Given the description of an element on the screen output the (x, y) to click on. 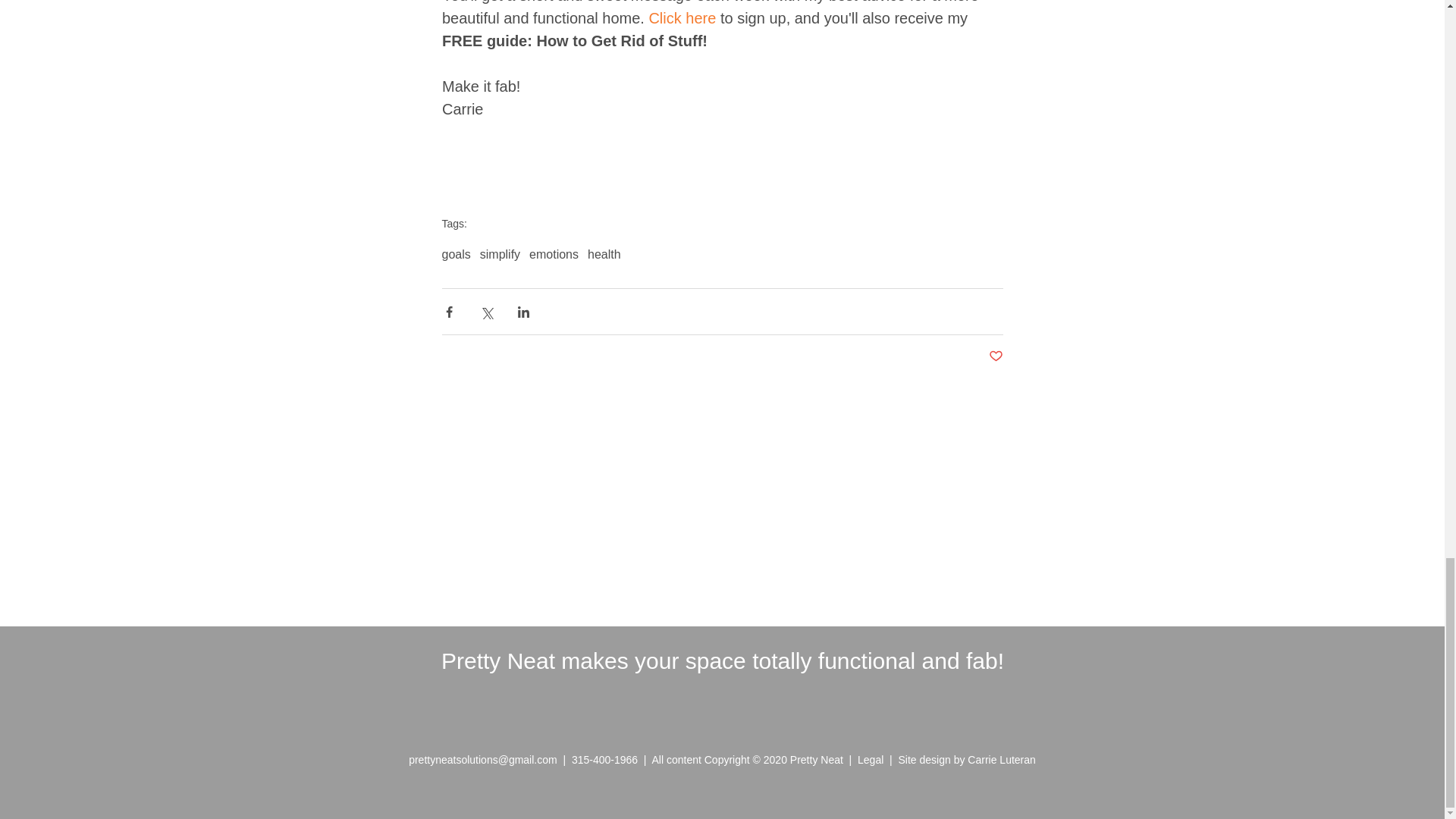
Click here (681, 17)
emotions (553, 254)
goals (455, 254)
simplify (499, 254)
Post not marked as liked (995, 356)
315-400-1966 (604, 759)
health (604, 254)
Legal   (873, 759)
